Given the description of an element on the screen output the (x, y) to click on. 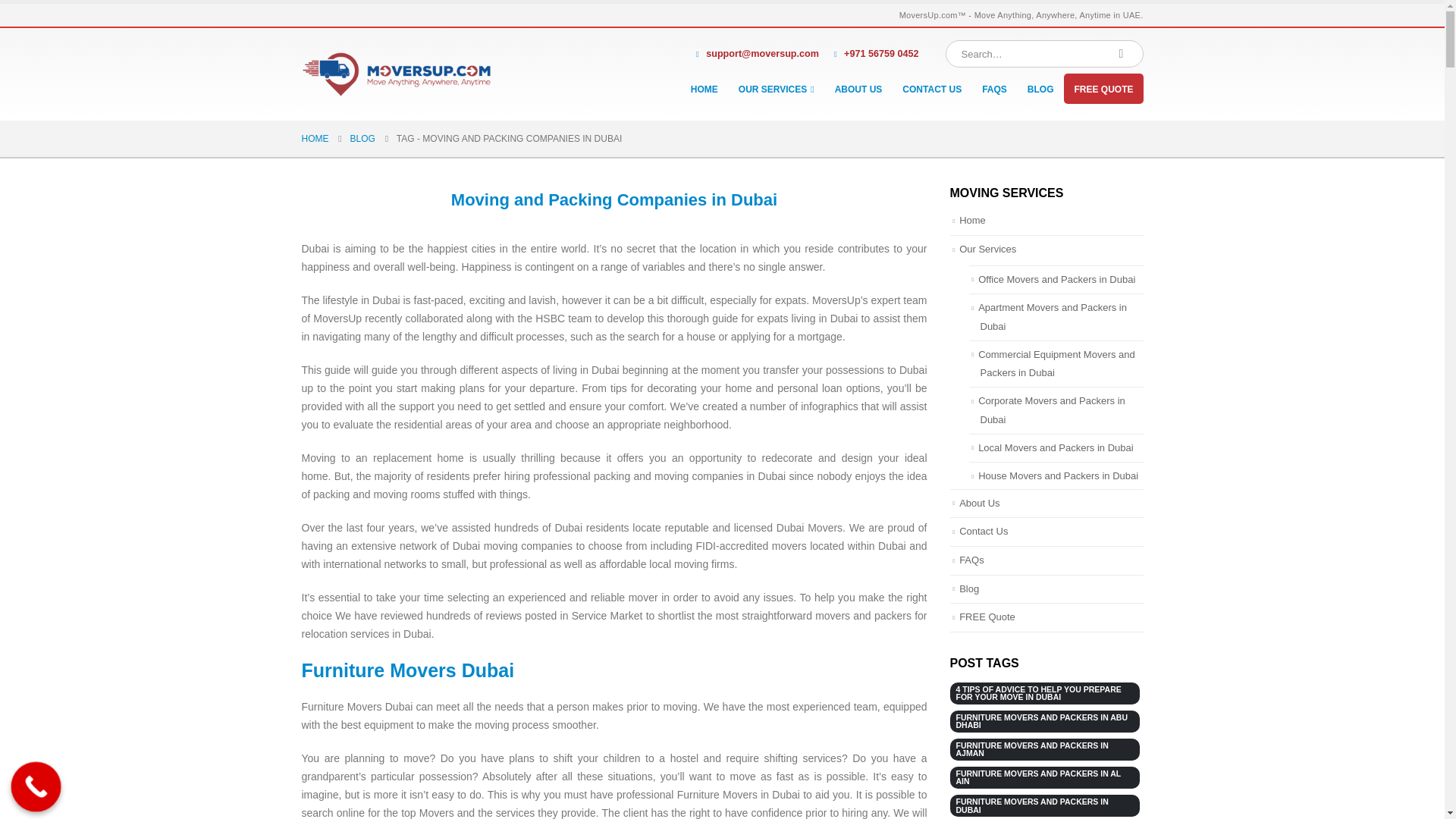
Search (1121, 53)
BLOG (1040, 88)
ABOUT US (858, 88)
OUR SERVICES (776, 88)
HOME (315, 138)
CONTACT US (931, 88)
HOME (704, 88)
FREE QUOTE (1103, 88)
FAQS (994, 88)
Go to Home Page (315, 138)
MoversUp -  (396, 74)
